Given the description of an element on the screen output the (x, y) to click on. 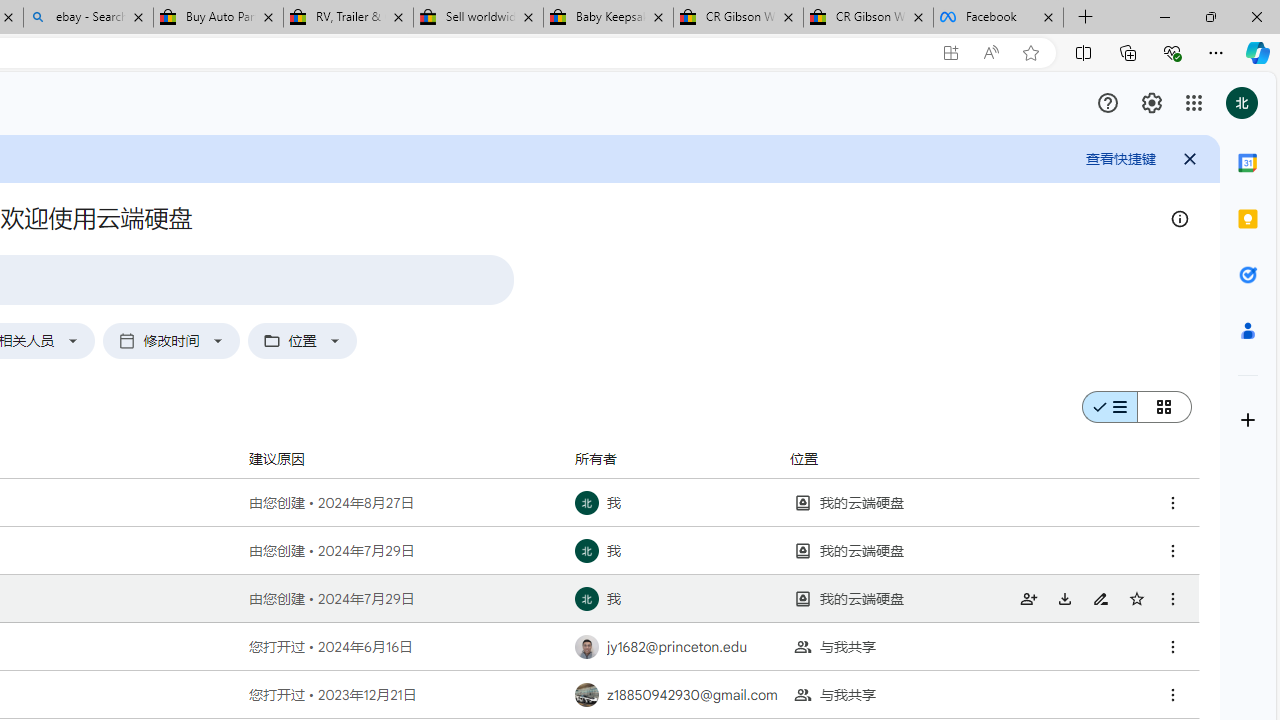
Class: a-s-fa-Ha-pa c-qd BMAFpd (1136, 598)
Class: wo35tf (1107, 102)
